Given the description of an element on the screen output the (x, y) to click on. 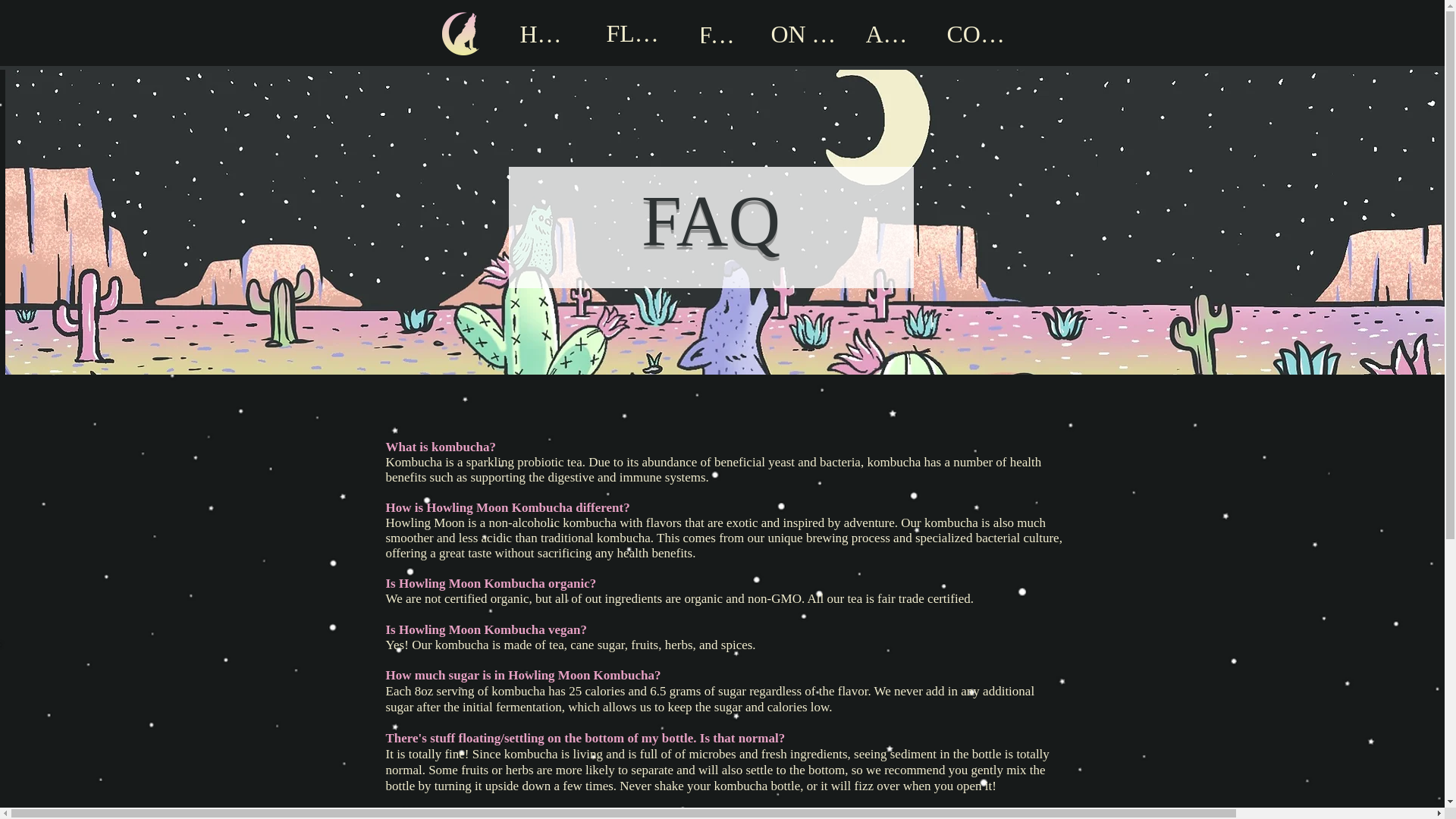
ON TAP (805, 33)
HOME (545, 33)
FLAVORS (638, 33)
CONTACT (981, 33)
ABOUT (894, 33)
FAQ (721, 34)
